Given the description of an element on the screen output the (x, y) to click on. 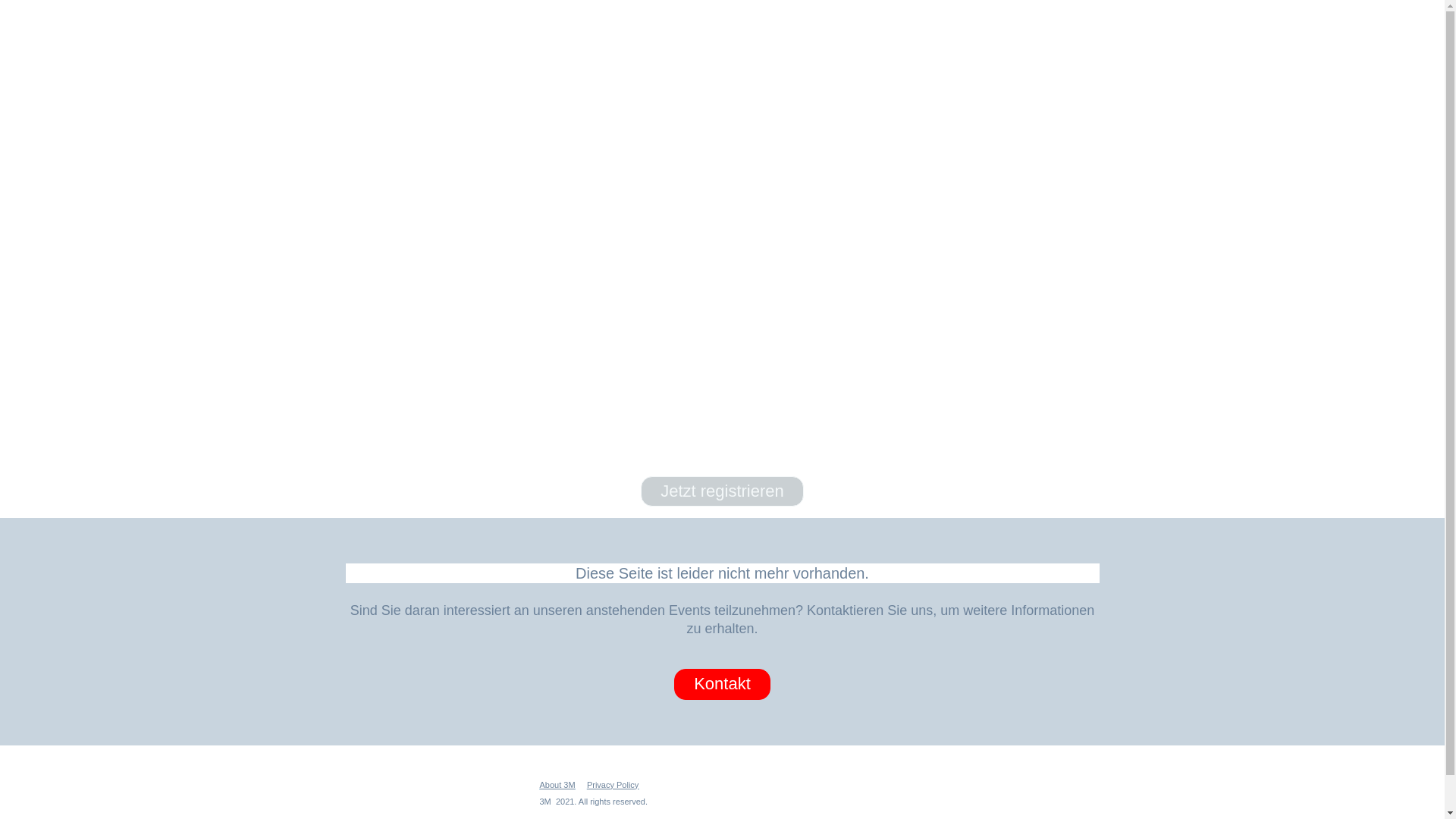
Jetzt registrieren Element type: text (727, 238)
